Given the description of an element on the screen output the (x, y) to click on. 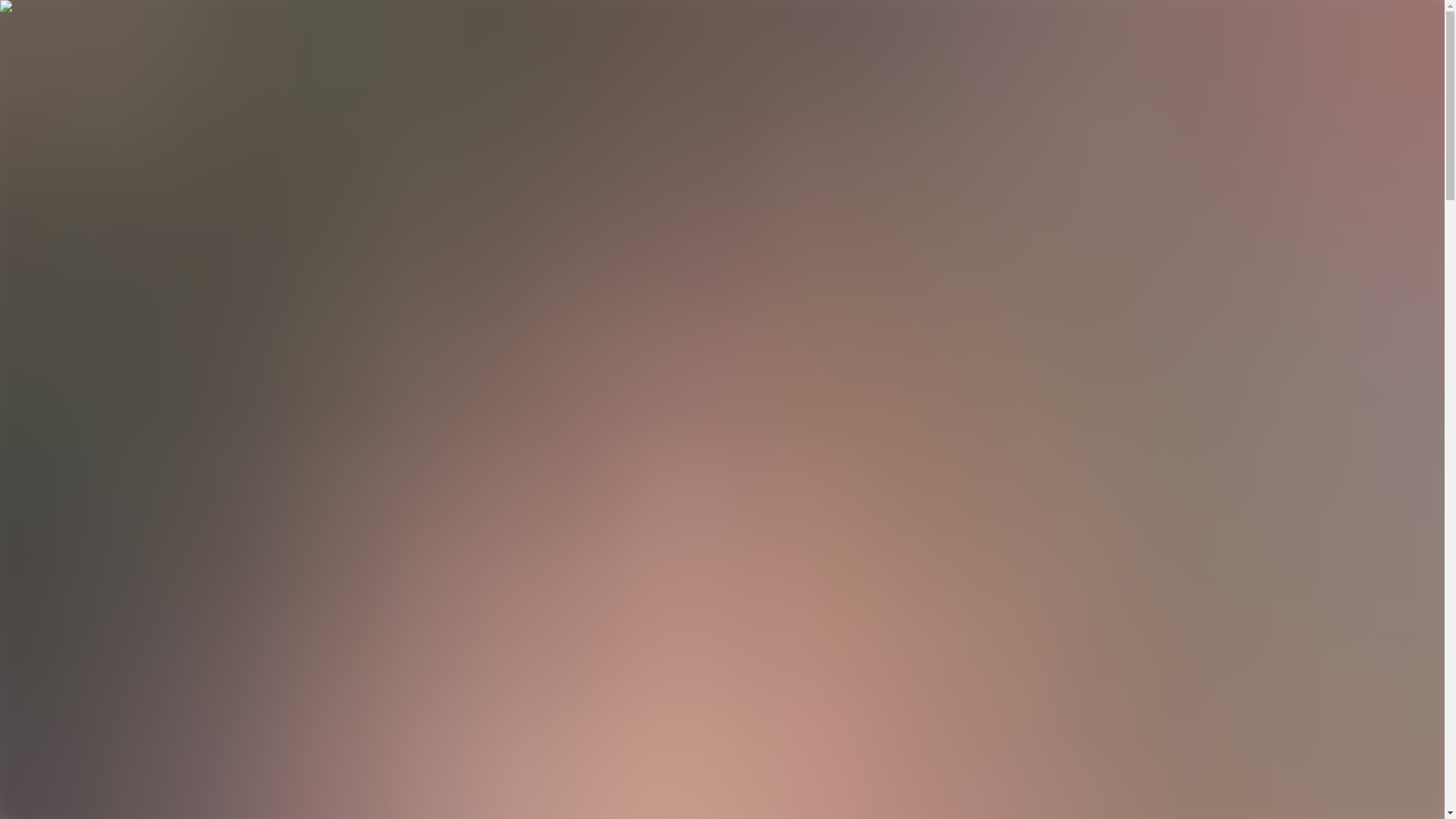
Register (25, 273)
Get a Valuation (43, 259)
Buy (134, 794)
Radius (141, 694)
Call us (136, 115)
